Given the description of an element on the screen output the (x, y) to click on. 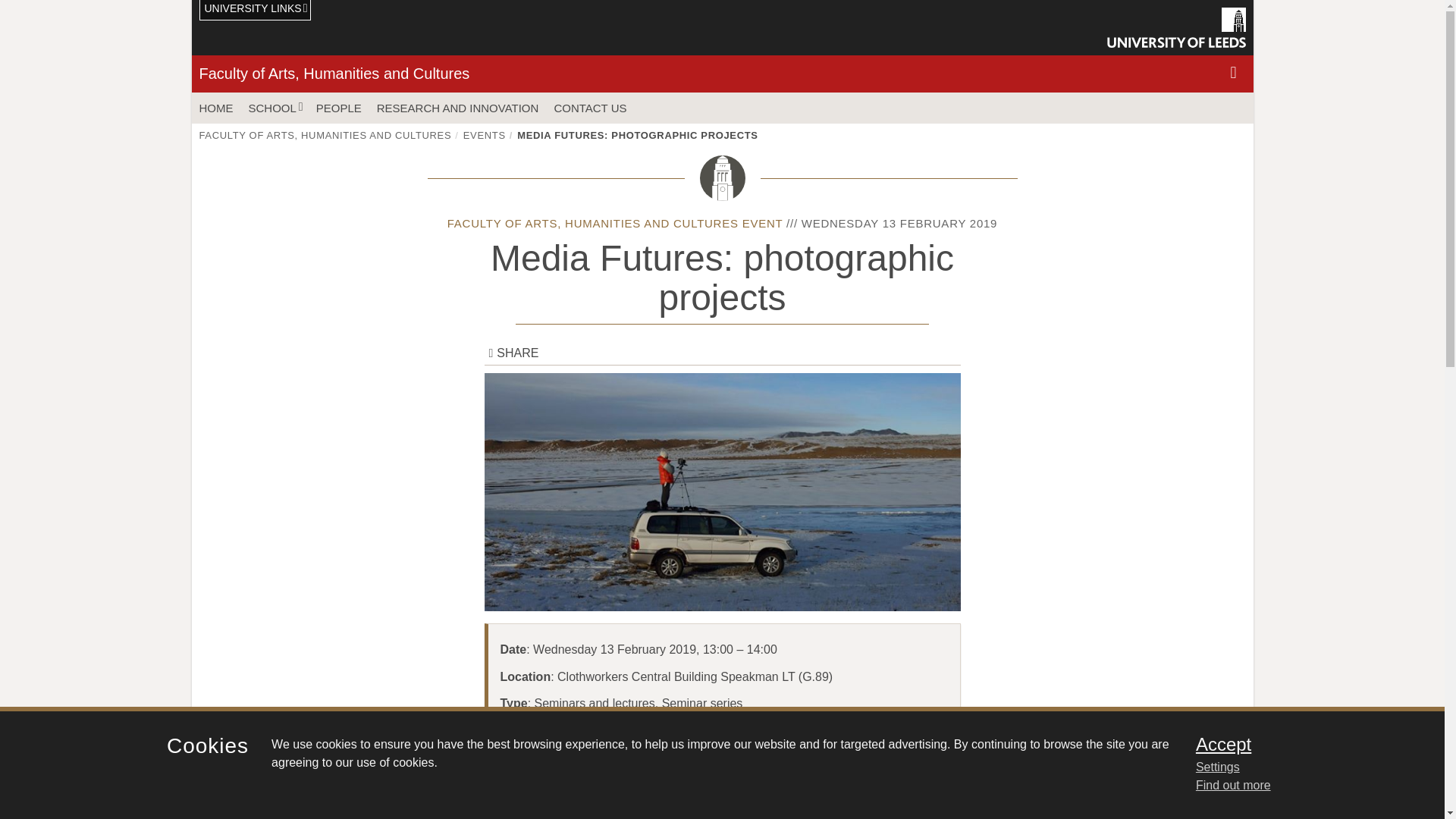
Accept (1300, 744)
UNIVERSITY LINKS (254, 10)
University of Leeds homepage (1176, 27)
Find out more (1233, 784)
Settings (1300, 767)
